Given the description of an element on the screen output the (x, y) to click on. 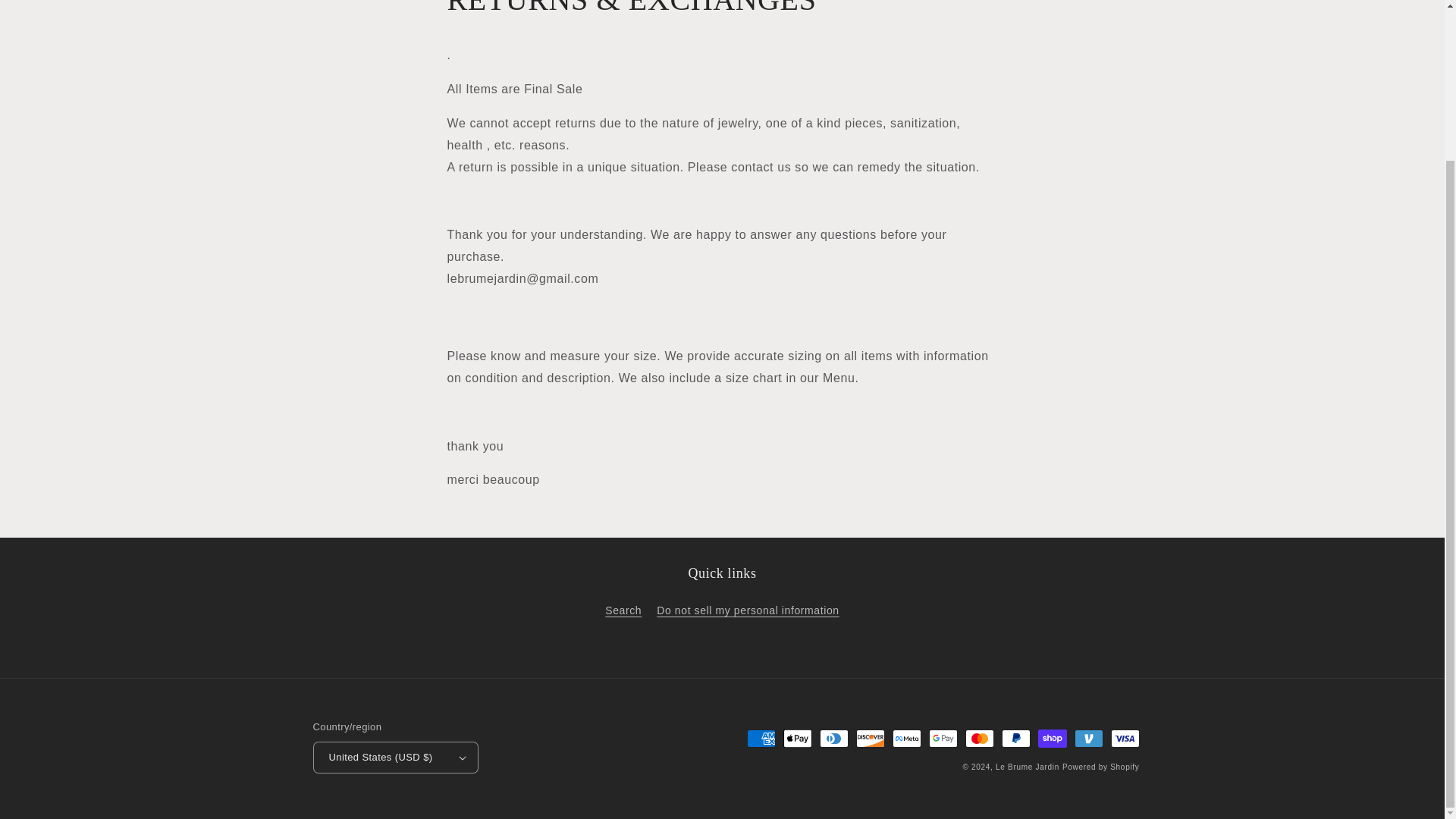
Do not sell my personal information (747, 610)
Le Brume Jardin (1027, 766)
Powered by Shopify (1101, 766)
Search (623, 612)
